Given the description of an element on the screen output the (x, y) to click on. 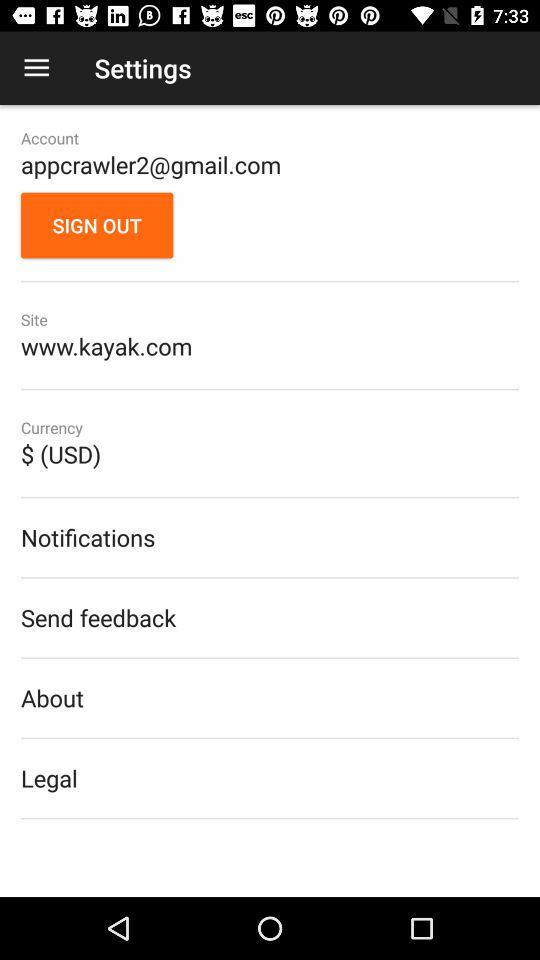
flip until the sign out icon (97, 225)
